Given the description of an element on the screen output the (x, y) to click on. 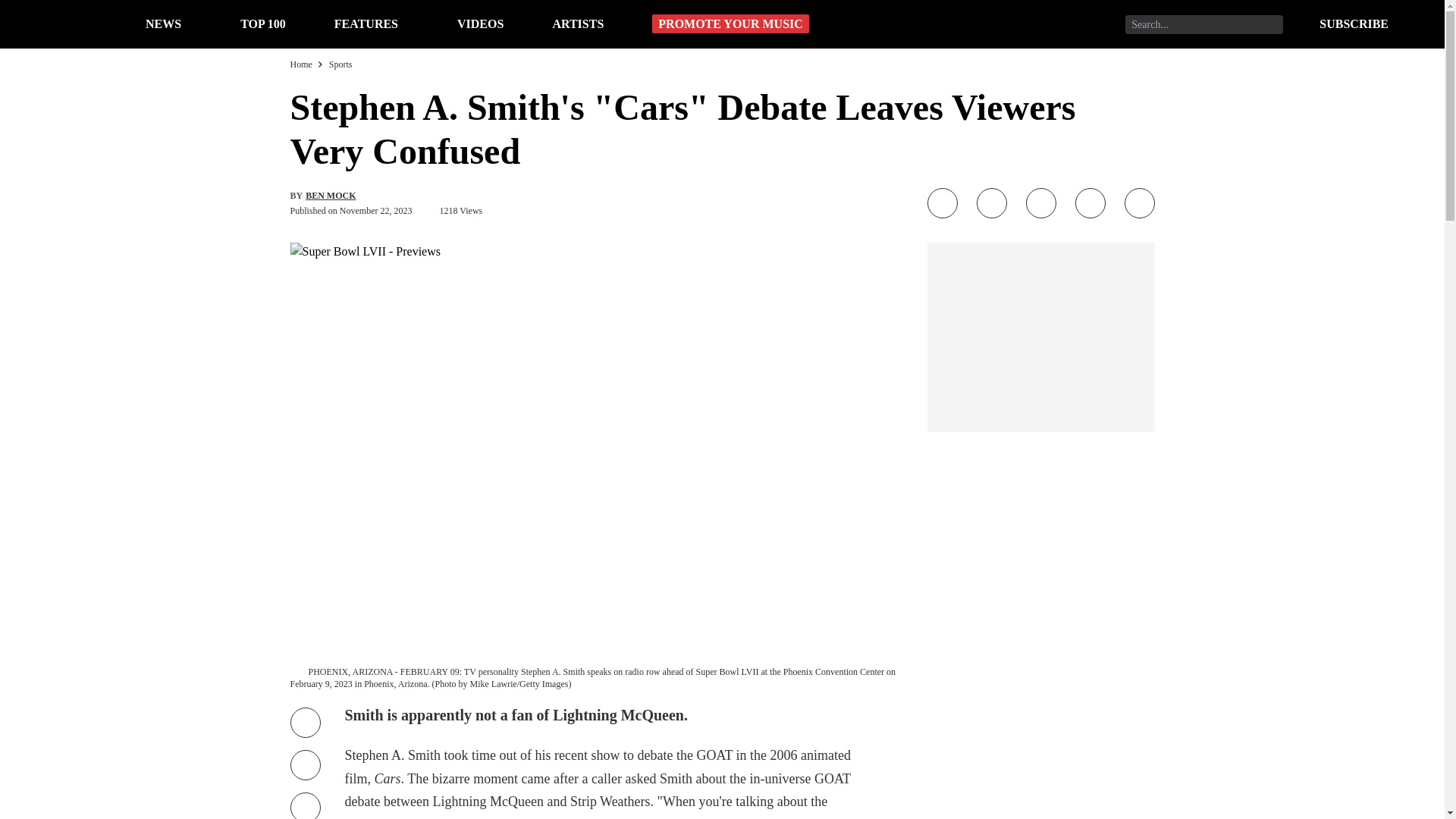
FEATURES (365, 23)
Sports (340, 63)
Home (300, 63)
TOP 100 (262, 23)
NEWS (162, 23)
November 22, 2023 (375, 210)
BEN MOCK (330, 195)
